Given the description of an element on the screen output the (x, y) to click on. 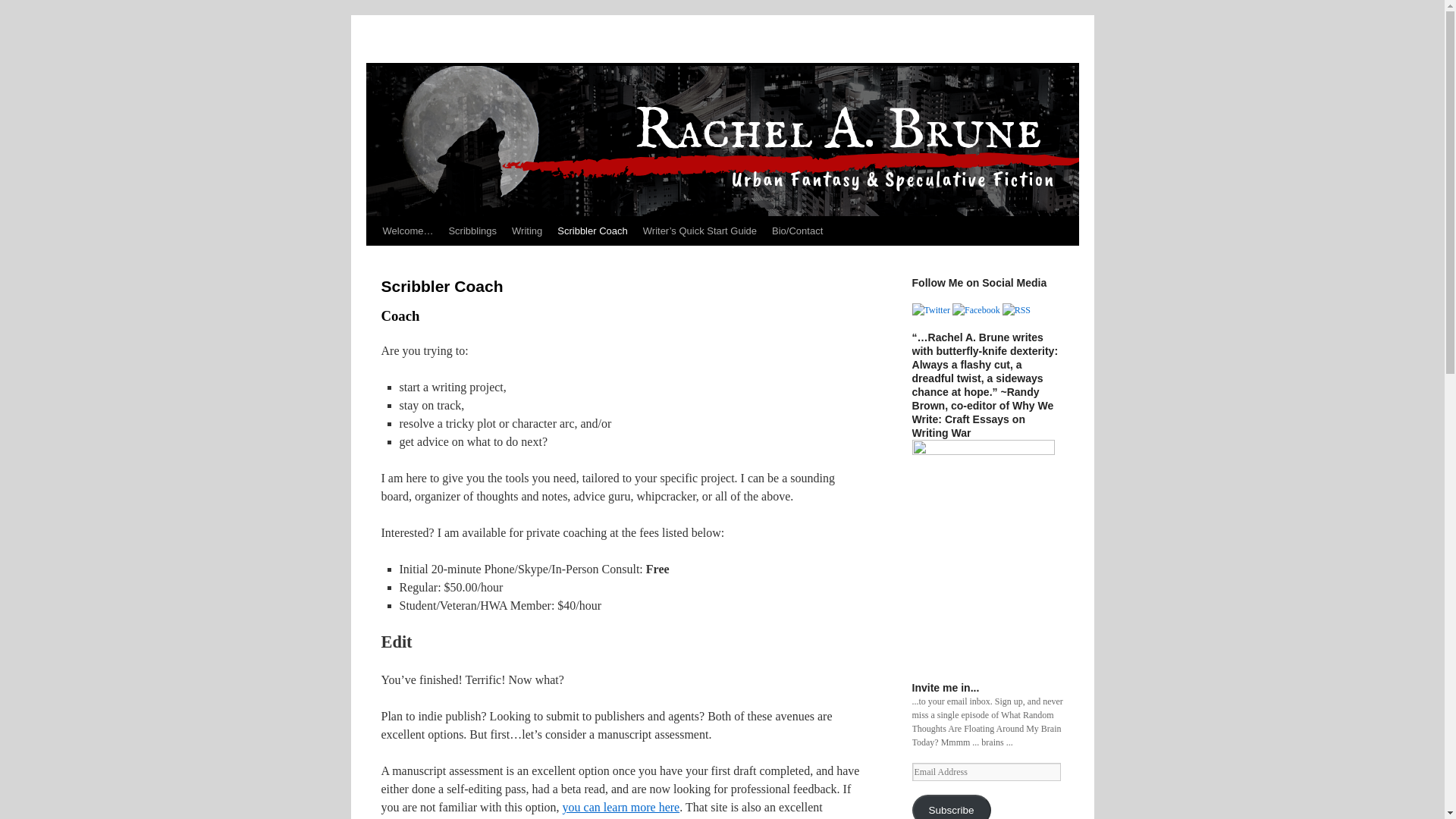
Writing (526, 231)
Scribblings (472, 231)
Instagram (1016, 309)
Facebook (976, 309)
Subscribe (950, 806)
you can learn more here (620, 807)
Scribbler Coach (592, 231)
Twitter (930, 309)
